Given the description of an element on the screen output the (x, y) to click on. 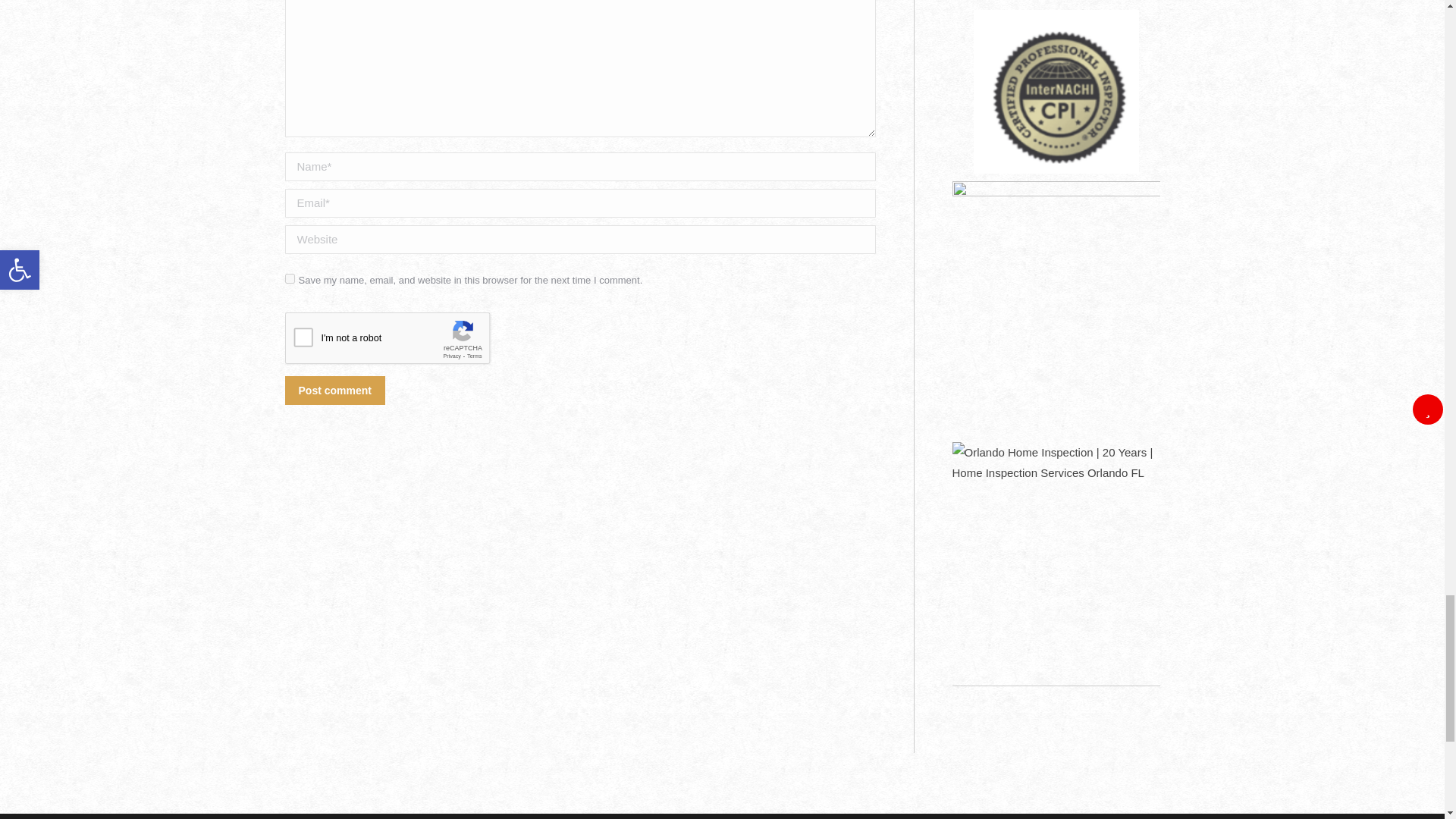
reCAPTCHA (400, 341)
yes (290, 278)
